Given the description of an element on the screen output the (x, y) to click on. 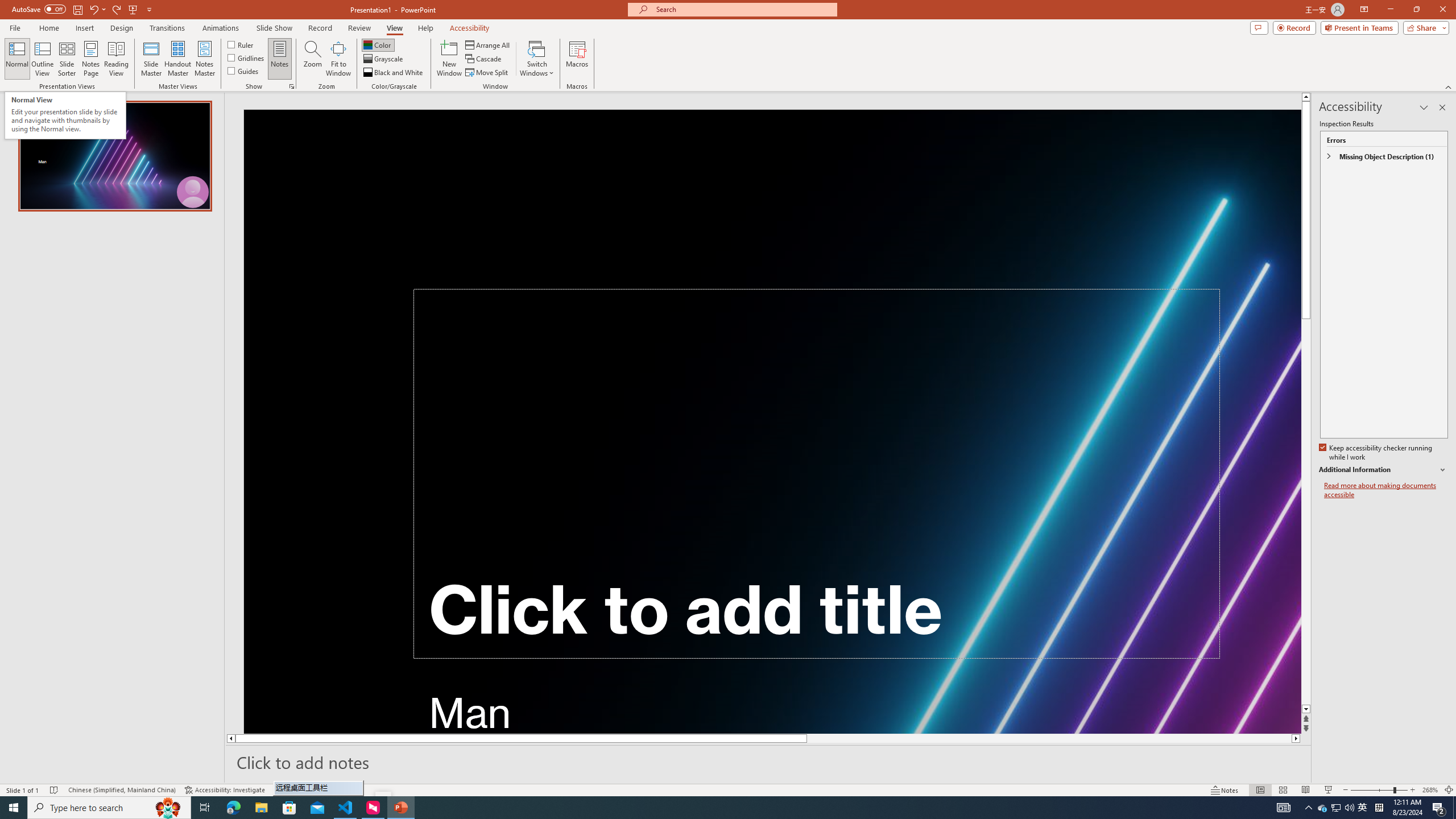
Switch Windows (537, 58)
Arrange All (488, 44)
Gridlines (246, 56)
Outline View (42, 58)
